Given the description of an element on the screen output the (x, y) to click on. 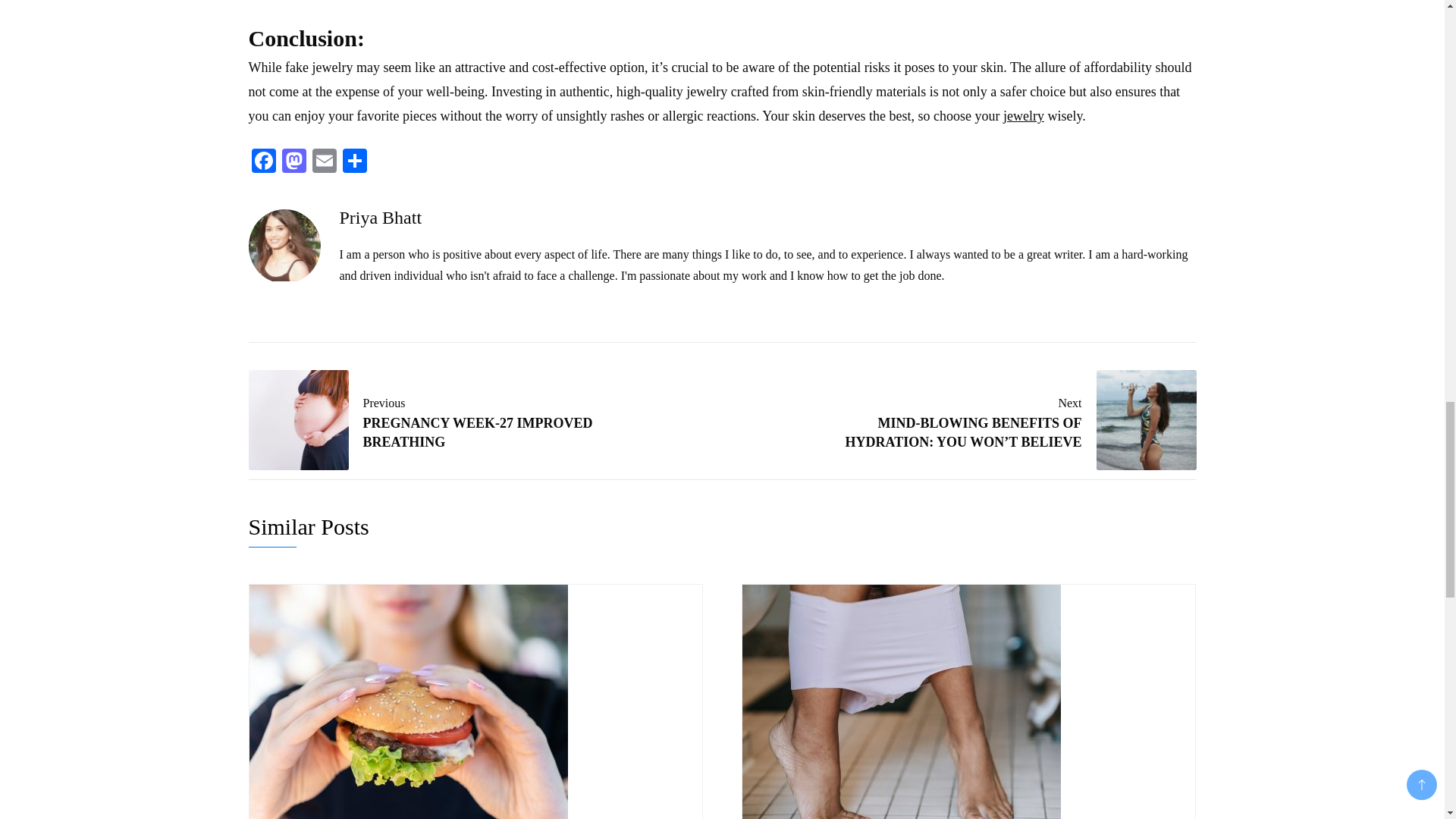
Facebook (452, 419)
Email (263, 162)
Mastodon (323, 162)
Mastodon (293, 162)
Email (293, 162)
Facebook (323, 162)
jewelry (263, 162)
Share (1023, 115)
